Given the description of an element on the screen output the (x, y) to click on. 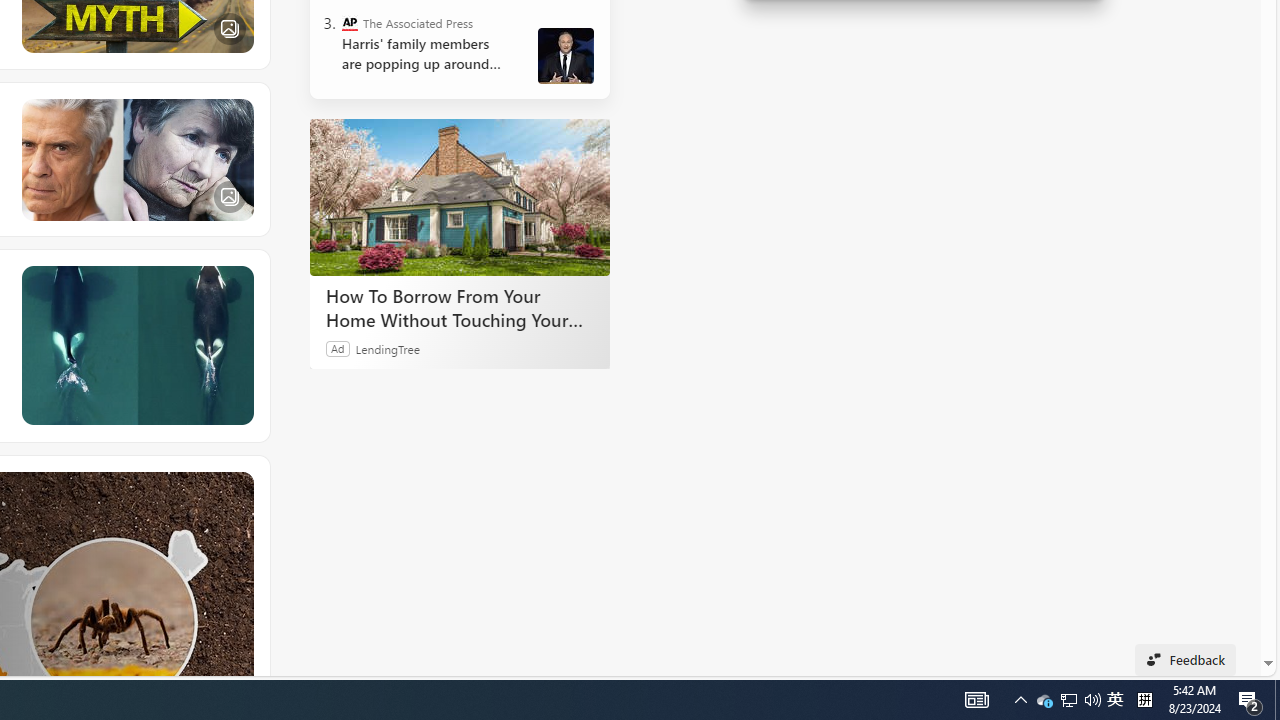
Show desktop (1069, 699)
Action Center, 2 new notifications (1277, 699)
Notification Chevron (1250, 699)
Tray Input Indicator - Chinese (Simplified, China) (1020, 699)
Q2790: 100% (1144, 699)
User Promoted Notification Area (1092, 699)
AutomationID: 4105 (1068, 699)
